Given the description of an element on the screen output the (x, y) to click on. 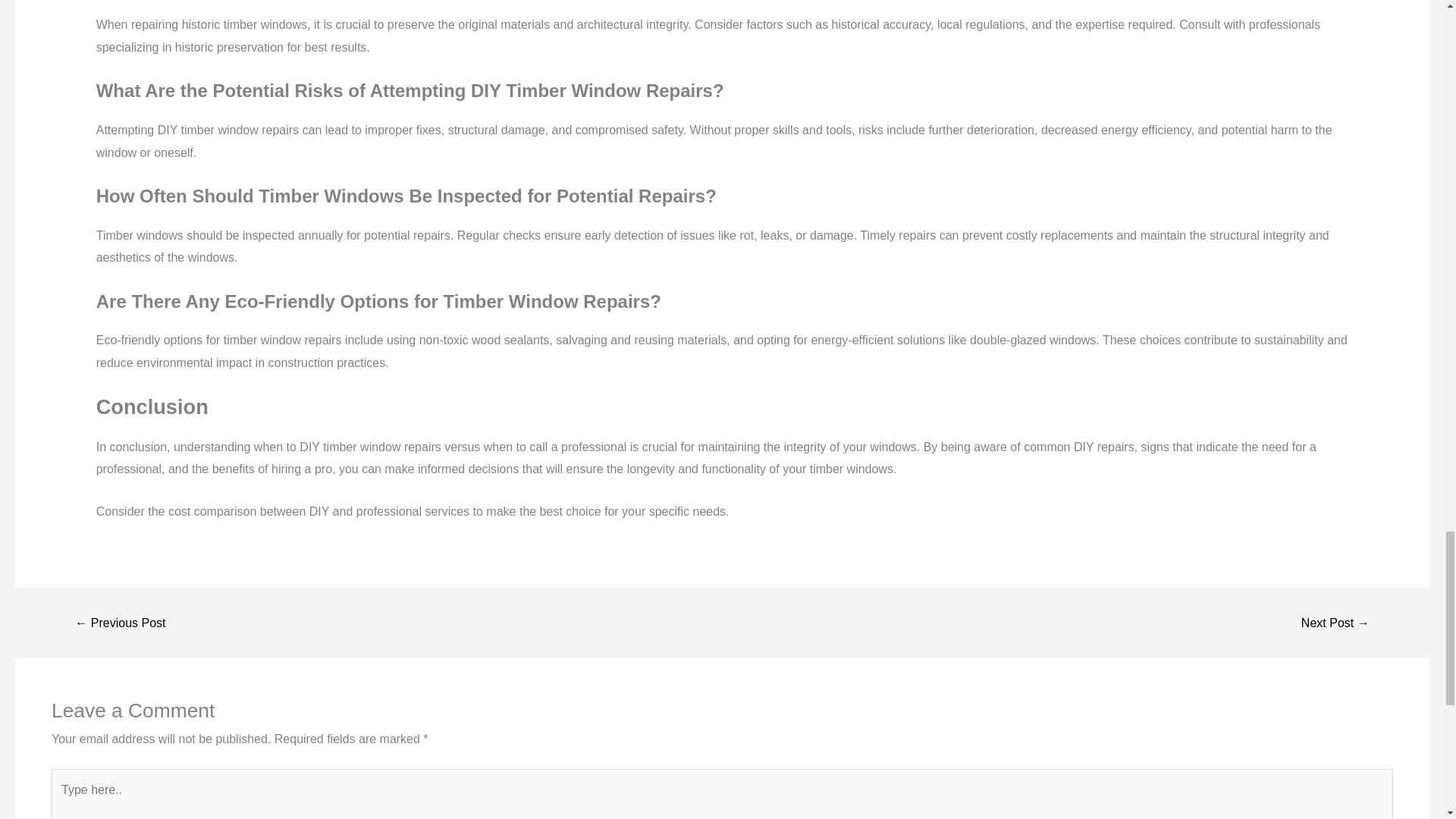
How Can I Reduce Noise With a Timber Door? (1334, 623)
Are Timber Doors Energy-Efficient? (119, 623)
